Given the description of an element on the screen output the (x, y) to click on. 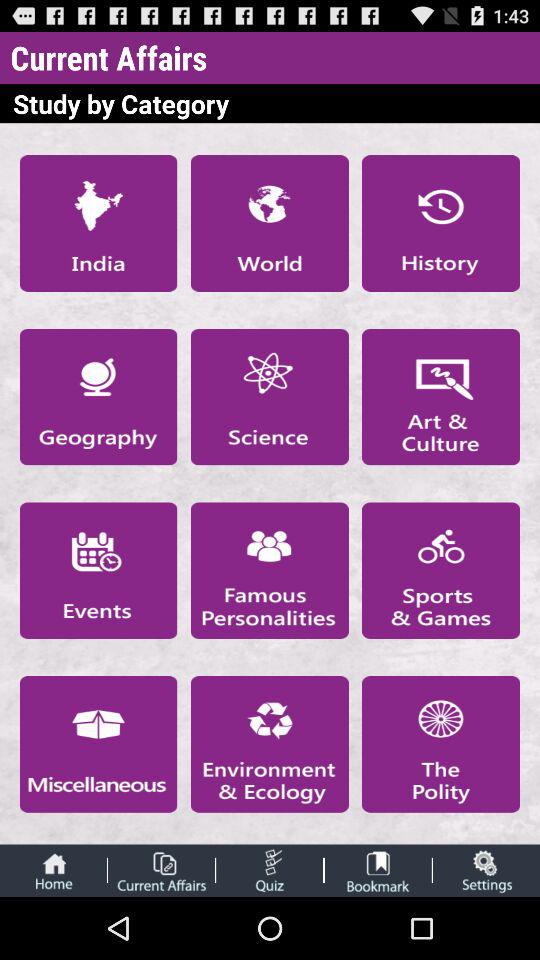
open app category (441, 744)
